Given the description of an element on the screen output the (x, y) to click on. 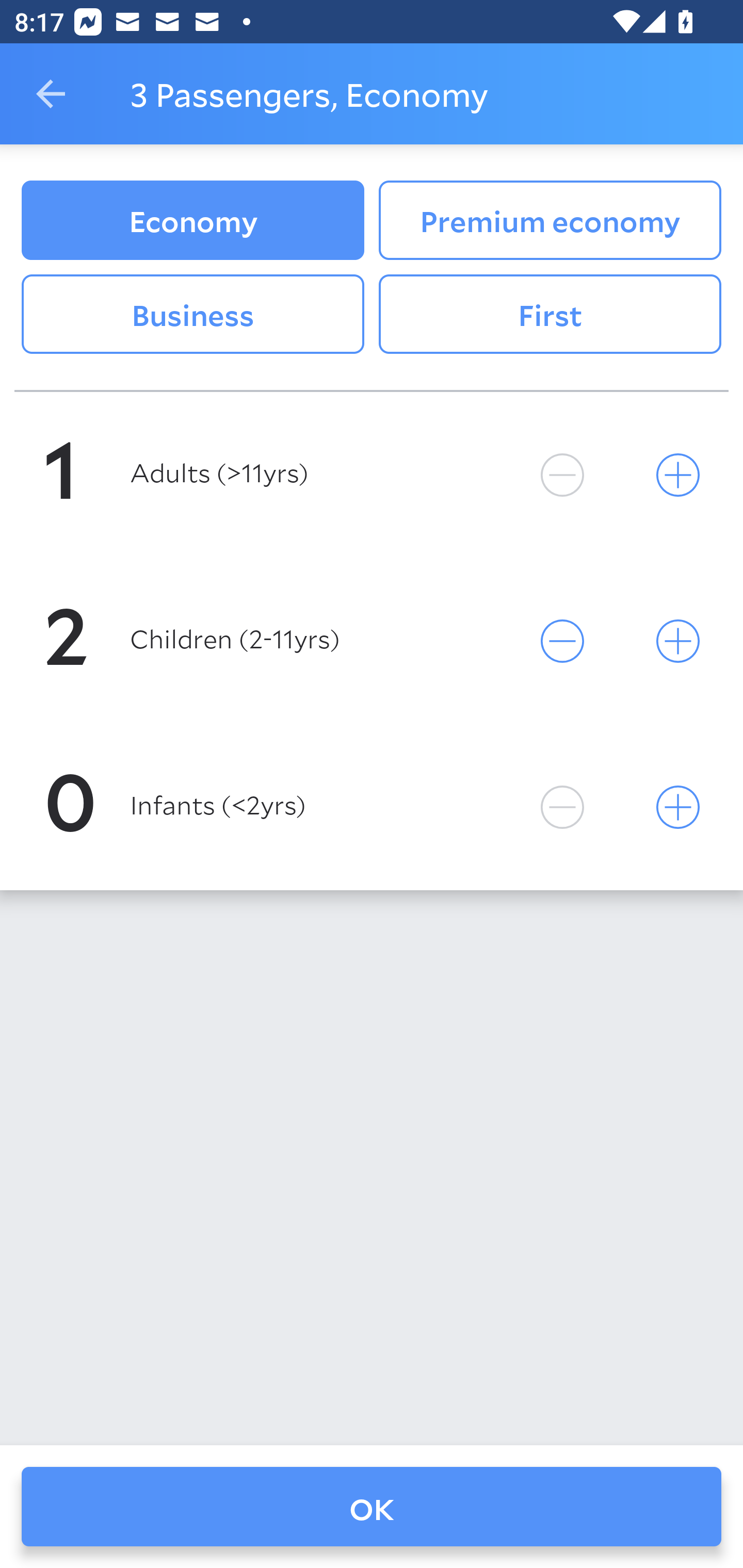
Navigate up (50, 93)
Economy (192, 220)
Premium economy (549, 220)
Business (192, 314)
First (549, 314)
OK (371, 1506)
